Given the description of an element on the screen output the (x, y) to click on. 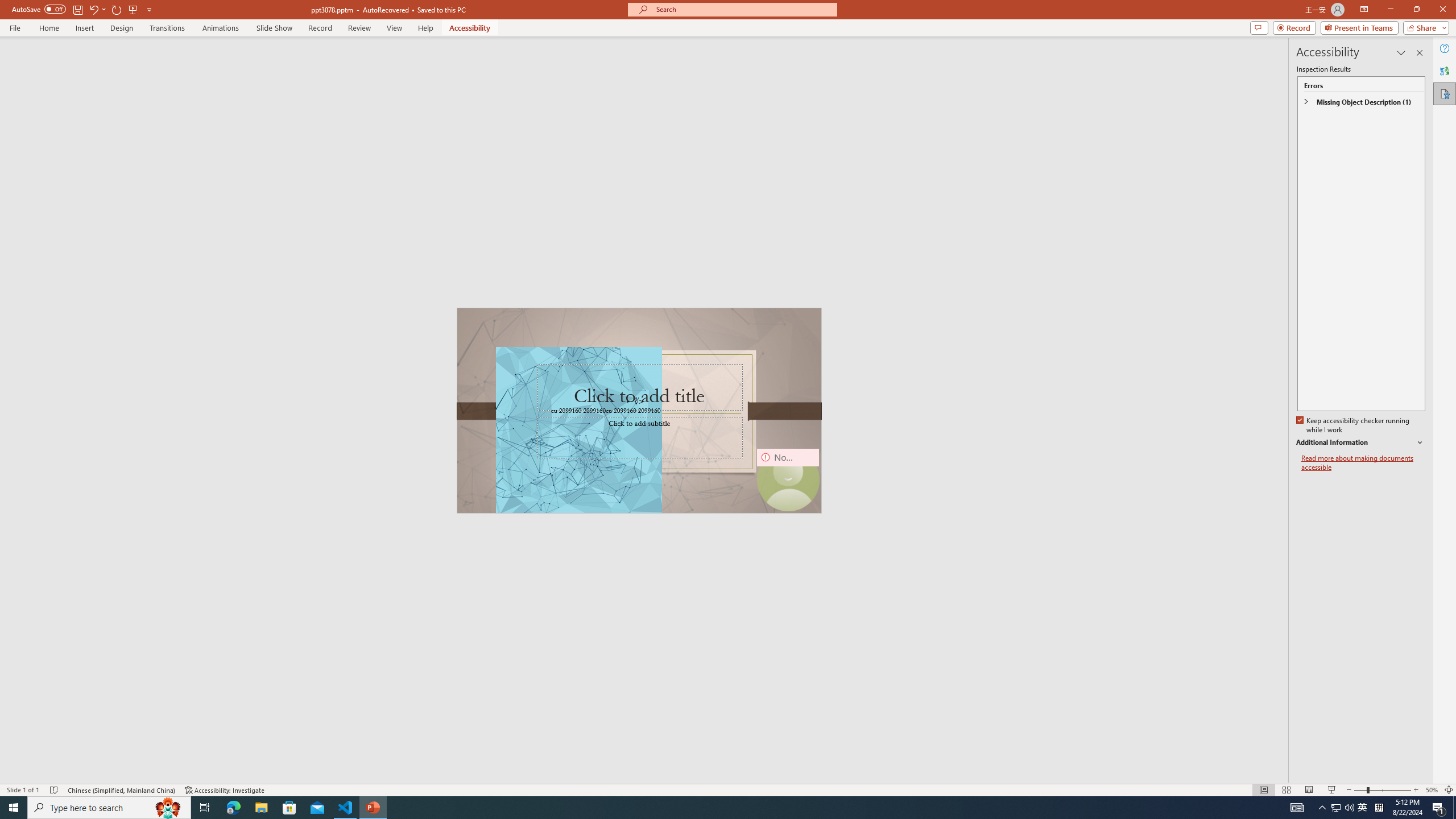
From Beginning (133, 9)
Camera 9, No camera detected. (787, 479)
File Tab (15, 27)
Close (1442, 9)
Restore Down (1416, 9)
Accessibility (1444, 93)
Slide Sorter (1286, 790)
Accessibility Checker Accessibility: Investigate (224, 790)
View (395, 28)
Microsoft search (742, 9)
Animations (220, 28)
Save (77, 9)
